Given the description of an element on the screen output the (x, y) to click on. 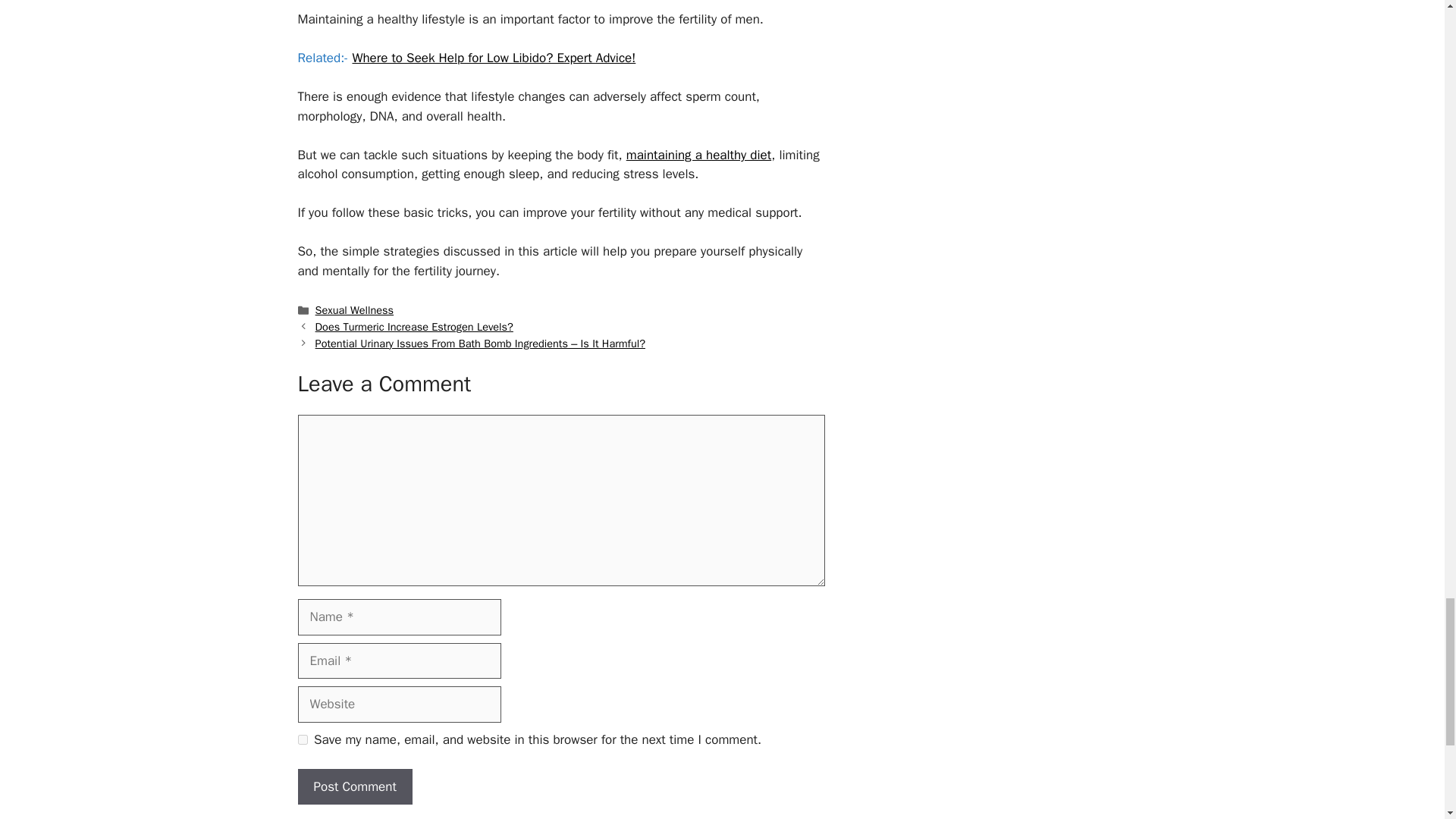
yes (302, 739)
Where to Seek Help for Low Libido? Expert Advice! (493, 57)
Post Comment (354, 787)
Sexual Wellness (354, 309)
Post Comment (354, 787)
maintaining a healthy diet (698, 154)
Does Turmeric Increase Estrogen Levels? (414, 326)
